Given the description of an element on the screen output the (x, y) to click on. 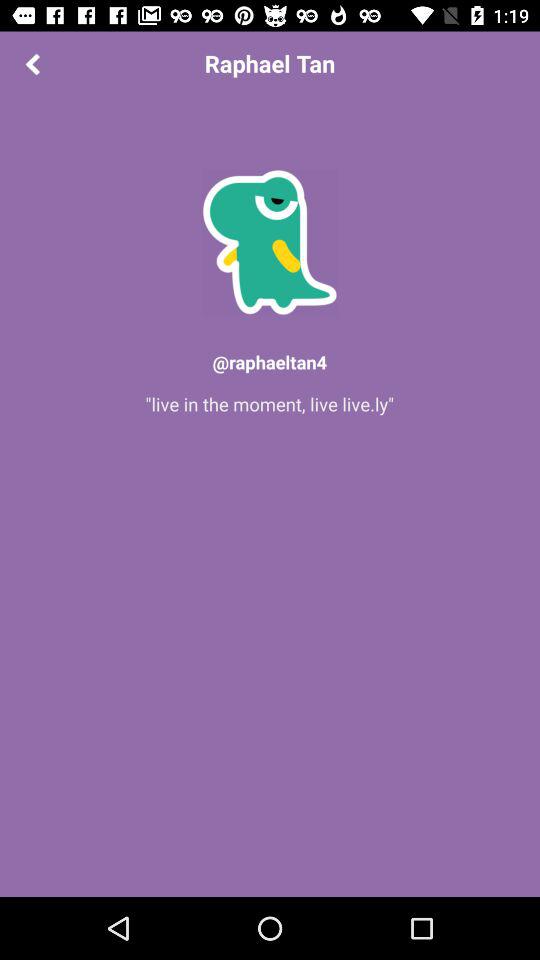
shows previous icon (32, 63)
